Given the description of an element on the screen output the (x, y) to click on. 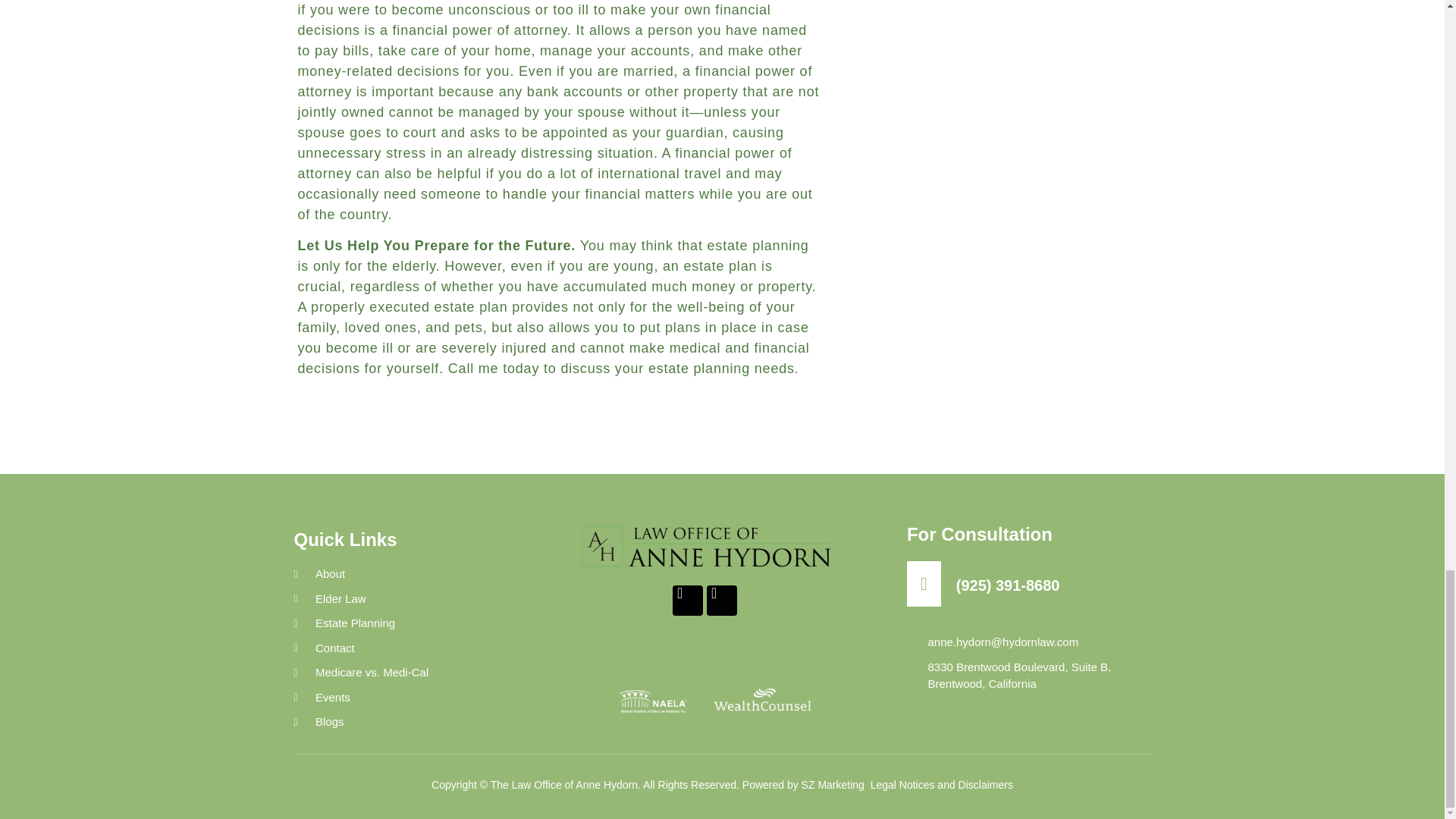
Elder Law (407, 599)
About (407, 574)
Blogs (407, 722)
Events (407, 697)
Estate Planning (407, 623)
Contact (407, 648)
Medicare vs. Medi-Cal (407, 672)
